Given the description of an element on the screen output the (x, y) to click on. 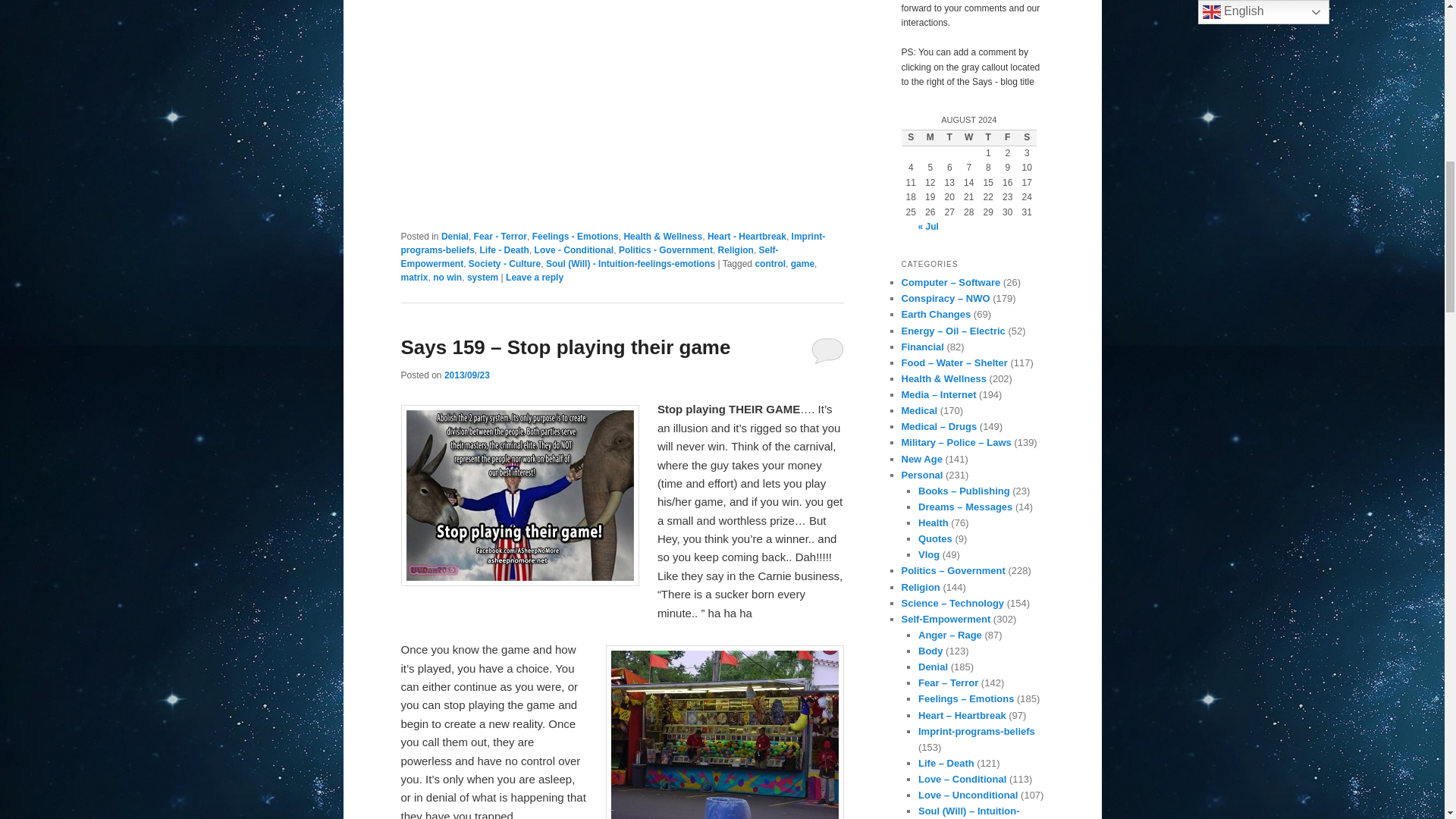
Self-Empowerment (588, 256)
Saturday (1026, 137)
Life - Death (504, 249)
Feelings - Emotions (575, 235)
Politics - Government (665, 249)
Denial (454, 235)
Thursday (987, 137)
Religion (735, 249)
control (770, 263)
Wednesday (968, 137)
